Given the description of an element on the screen output the (x, y) to click on. 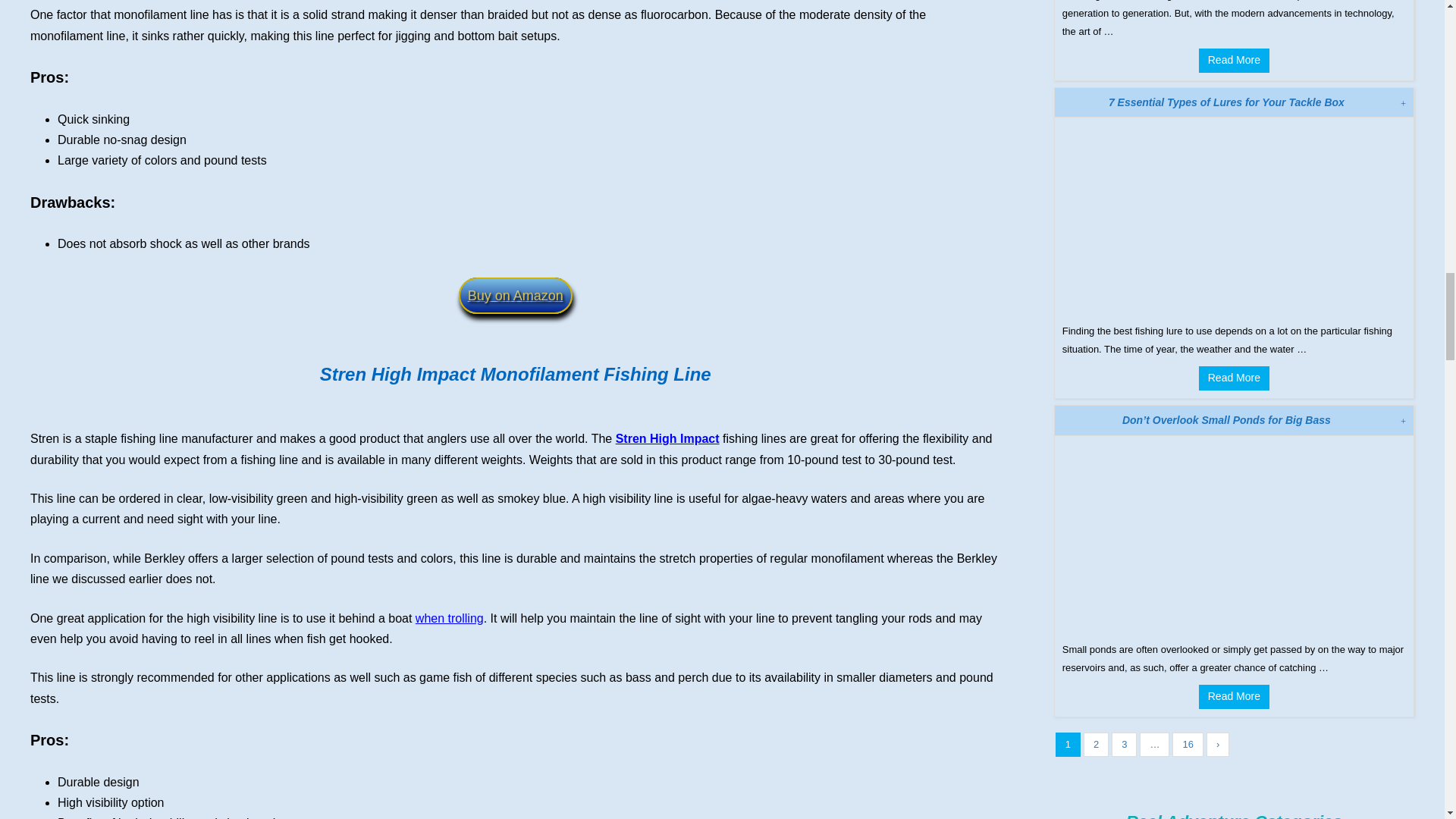
Lake Trolling Strategies and Tips to Help You Land More Fish (448, 617)
